Given the description of an element on the screen output the (x, y) to click on. 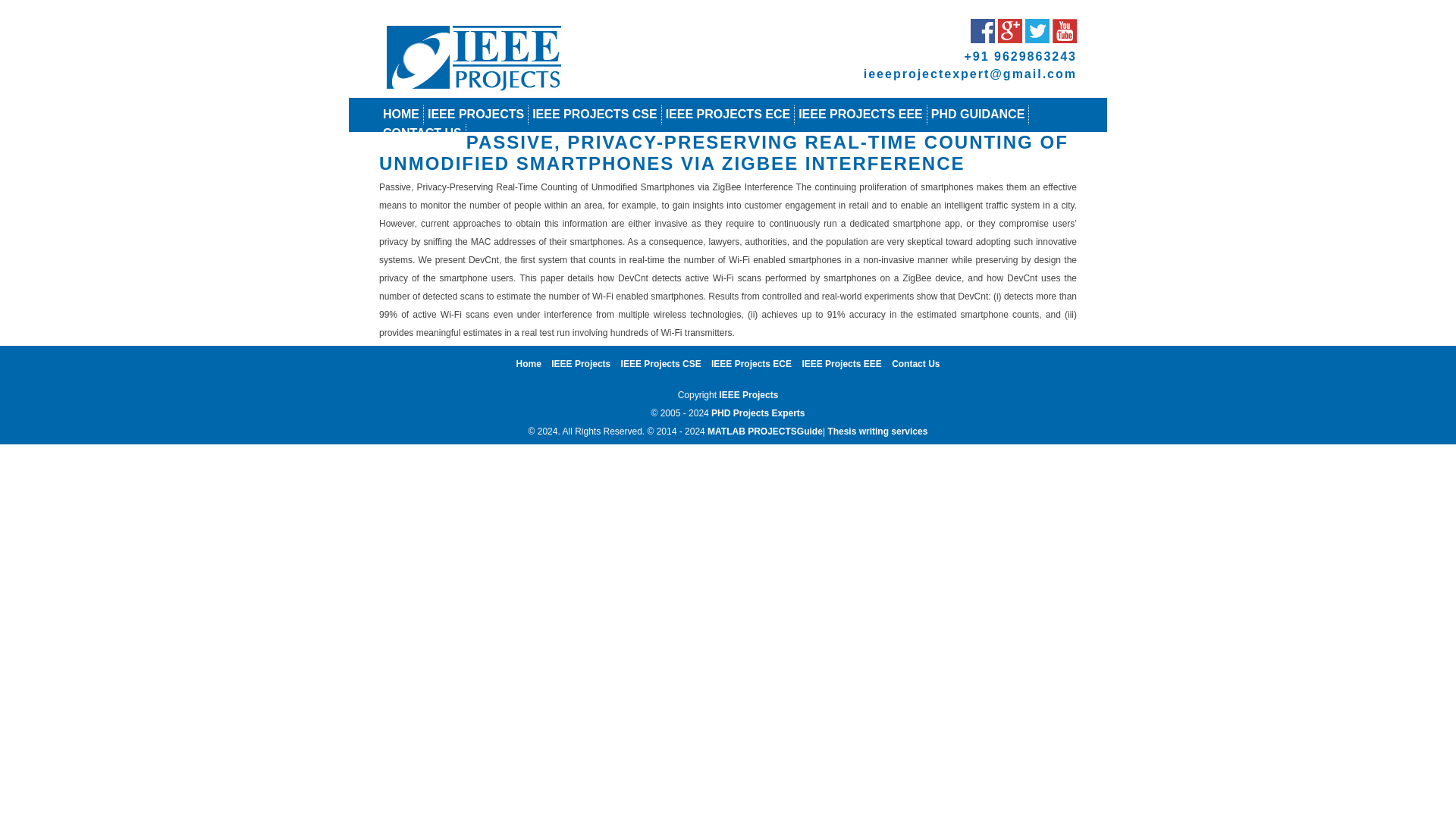
IEEE Projects (580, 363)
PHD GUIDANCE (978, 113)
Home (528, 363)
IEEE PROJECTS (476, 113)
HOME (400, 113)
IEEE PROJECTS EEE (860, 113)
IEEE PROJECTS CSE (595, 113)
IEEE Projects CSE (661, 363)
IEEE PROJECTS ECE (727, 113)
CONTACT US (421, 132)
